Given the description of an element on the screen output the (x, y) to click on. 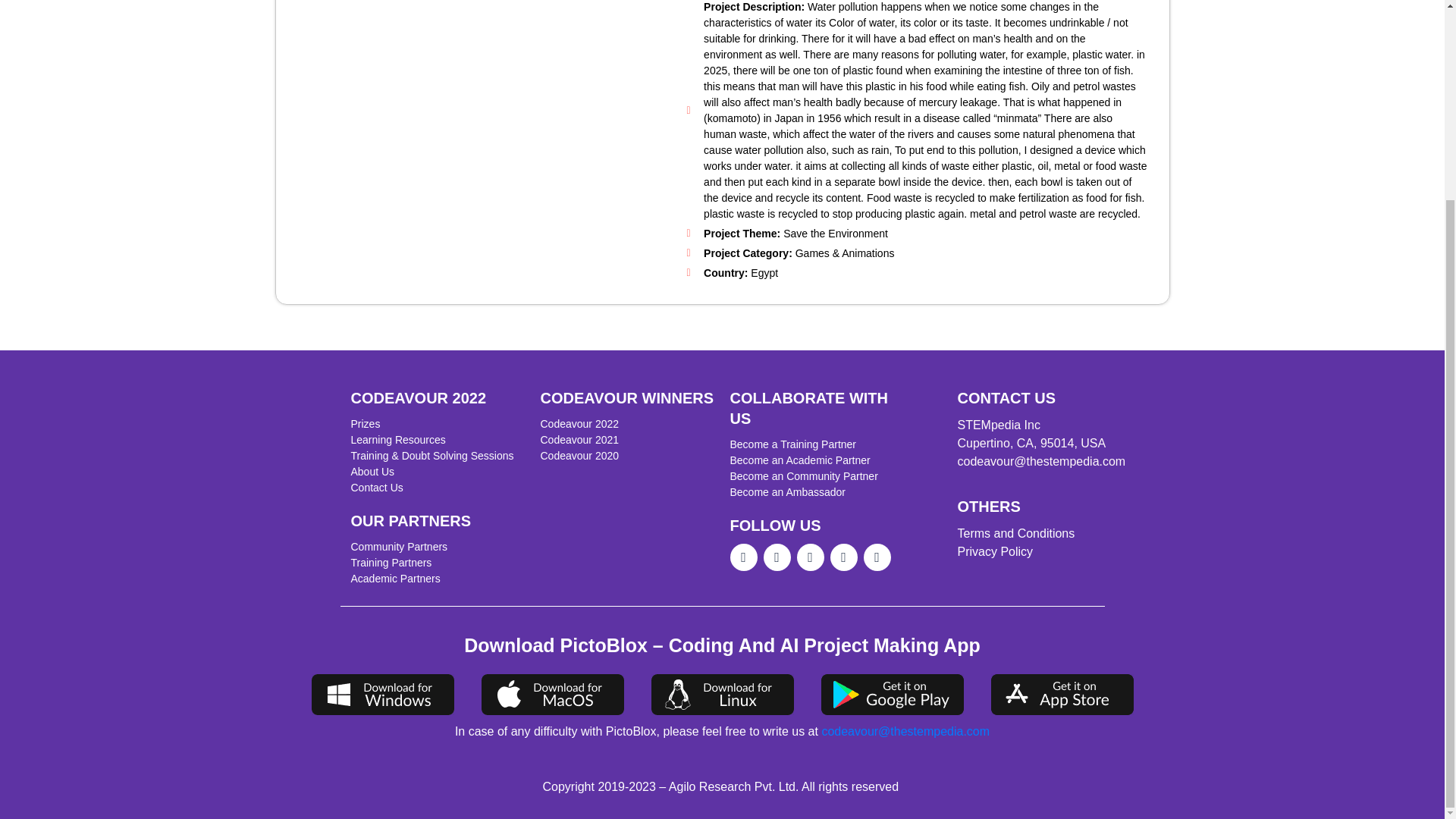
Privacy Policy (1040, 551)
Codeavour 2020 (627, 455)
Codeavour 2021 (627, 439)
Prizes (437, 424)
Learning Resources (437, 439)
Academic Partners (437, 578)
Become an Ambassador (816, 492)
Training Partners (437, 562)
Terms and Conditions (1040, 533)
Community Partners (437, 546)
Contact Us (437, 487)
Become a Training Partner (816, 444)
Become an Academic Partner (816, 460)
Codeavour 2022 (627, 424)
Become an Community Partner (816, 476)
